Given the description of an element on the screen output the (x, y) to click on. 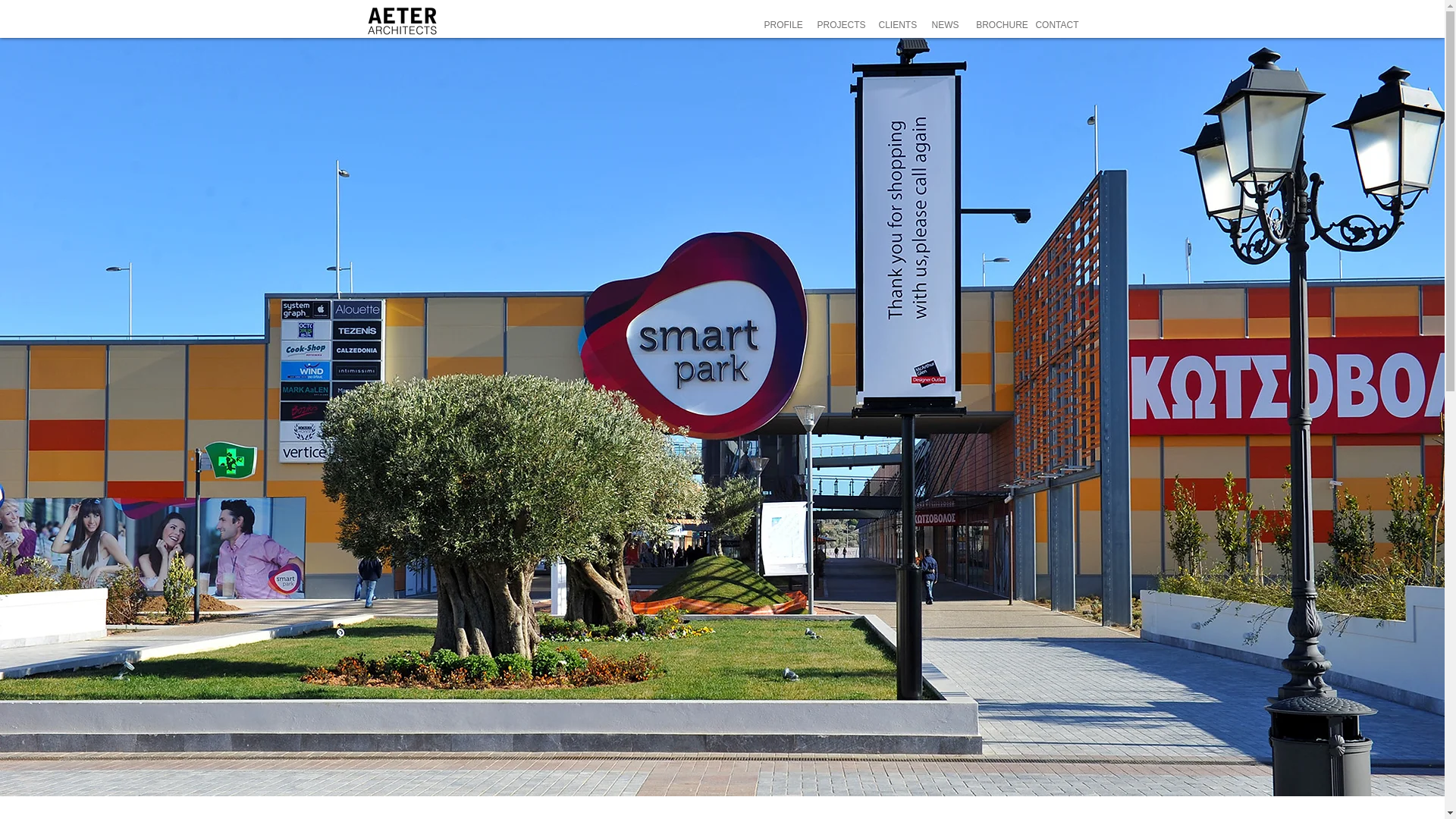
PROFILE (783, 25)
PROJECTS (839, 25)
BROCHURE (1002, 25)
CONTACT (1055, 25)
Home Page (401, 21)
NEWS (944, 25)
CLIENTS (896, 25)
